Given the description of an element on the screen output the (x, y) to click on. 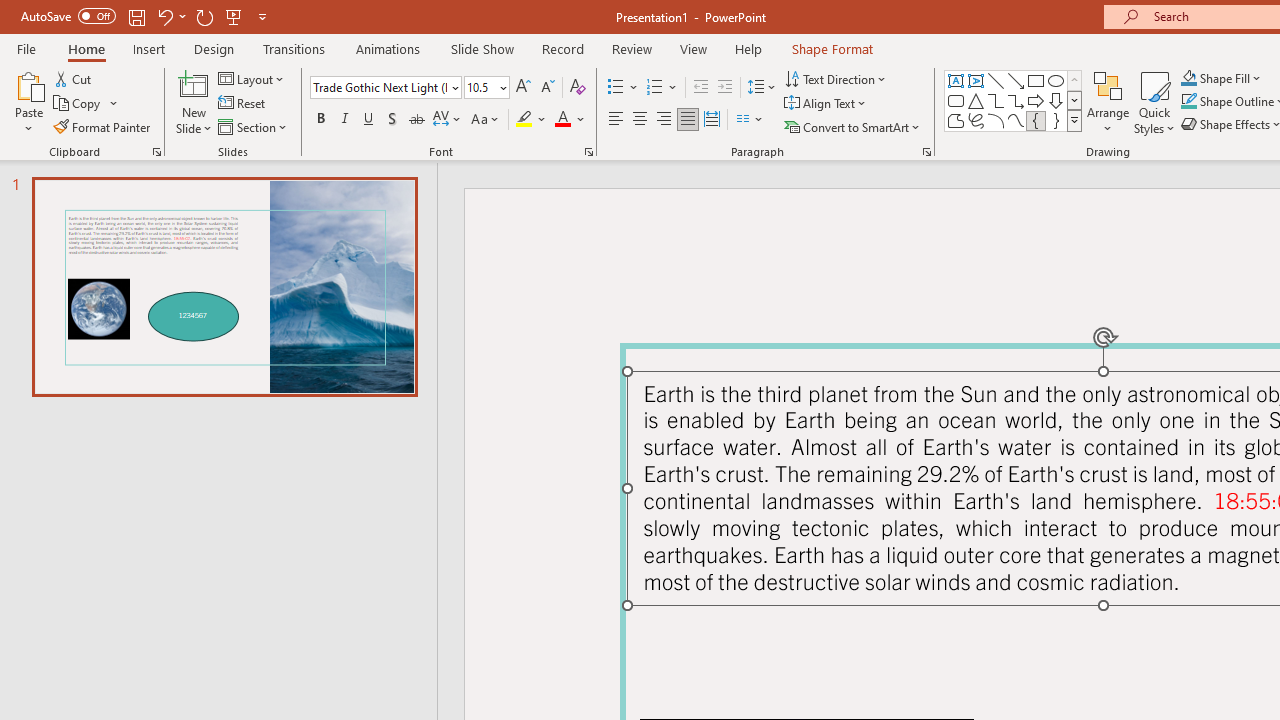
Freeform: Shape (955, 120)
Underline (369, 119)
Shape Fill Aqua, Accent 2 (1188, 78)
Font... (588, 151)
Font Color Red (562, 119)
Arrow: Right (1035, 100)
Increase Indent (725, 87)
Text Highlight Color Yellow (524, 119)
Section (254, 126)
Align Right (663, 119)
